Given the description of an element on the screen output the (x, y) to click on. 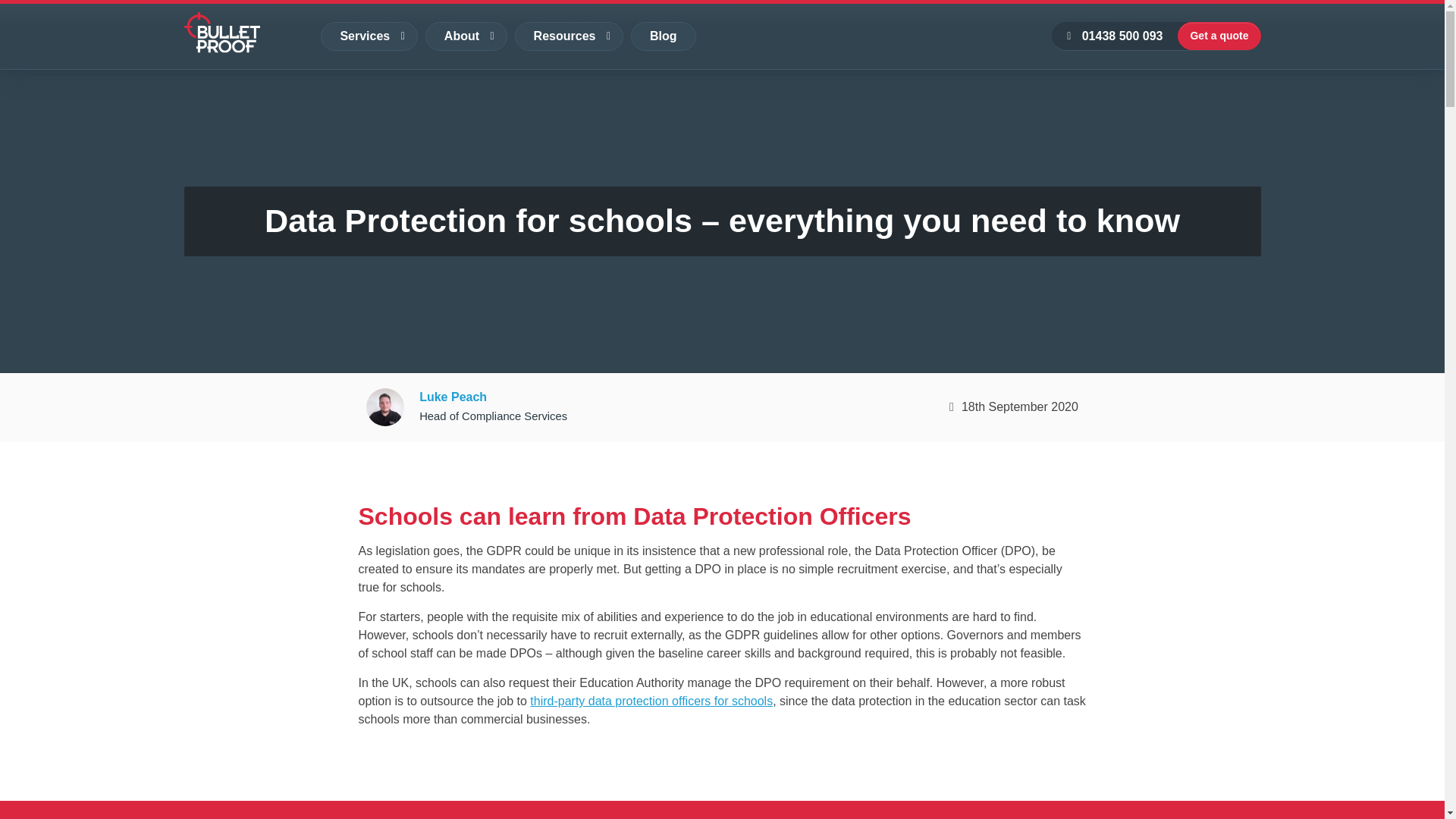
Bulletproof (221, 32)
Services (368, 36)
